Given the description of an element on the screen output the (x, y) to click on. 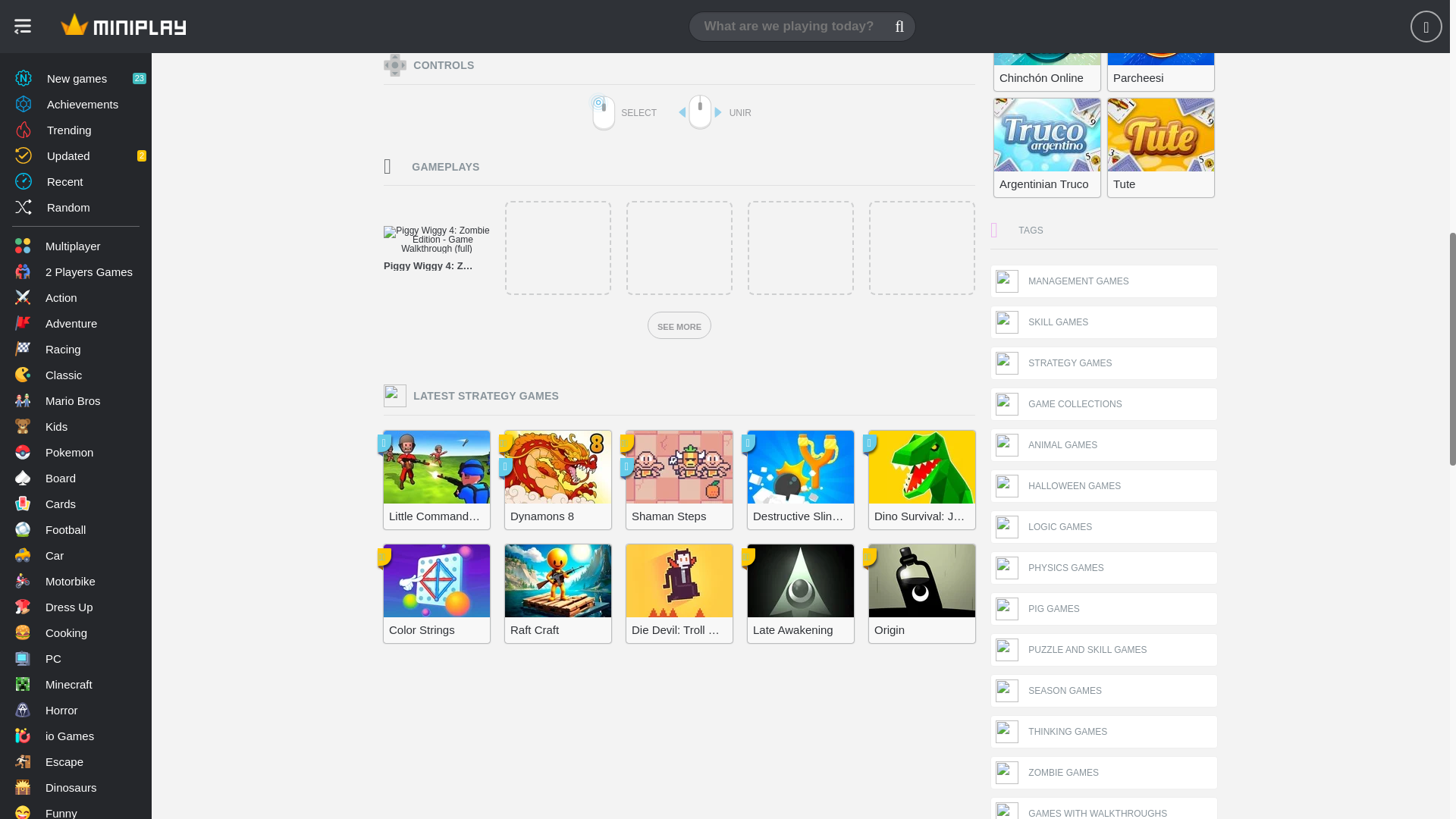
Funny (75, 3)
